Given the description of an element on the screen output the (x, y) to click on. 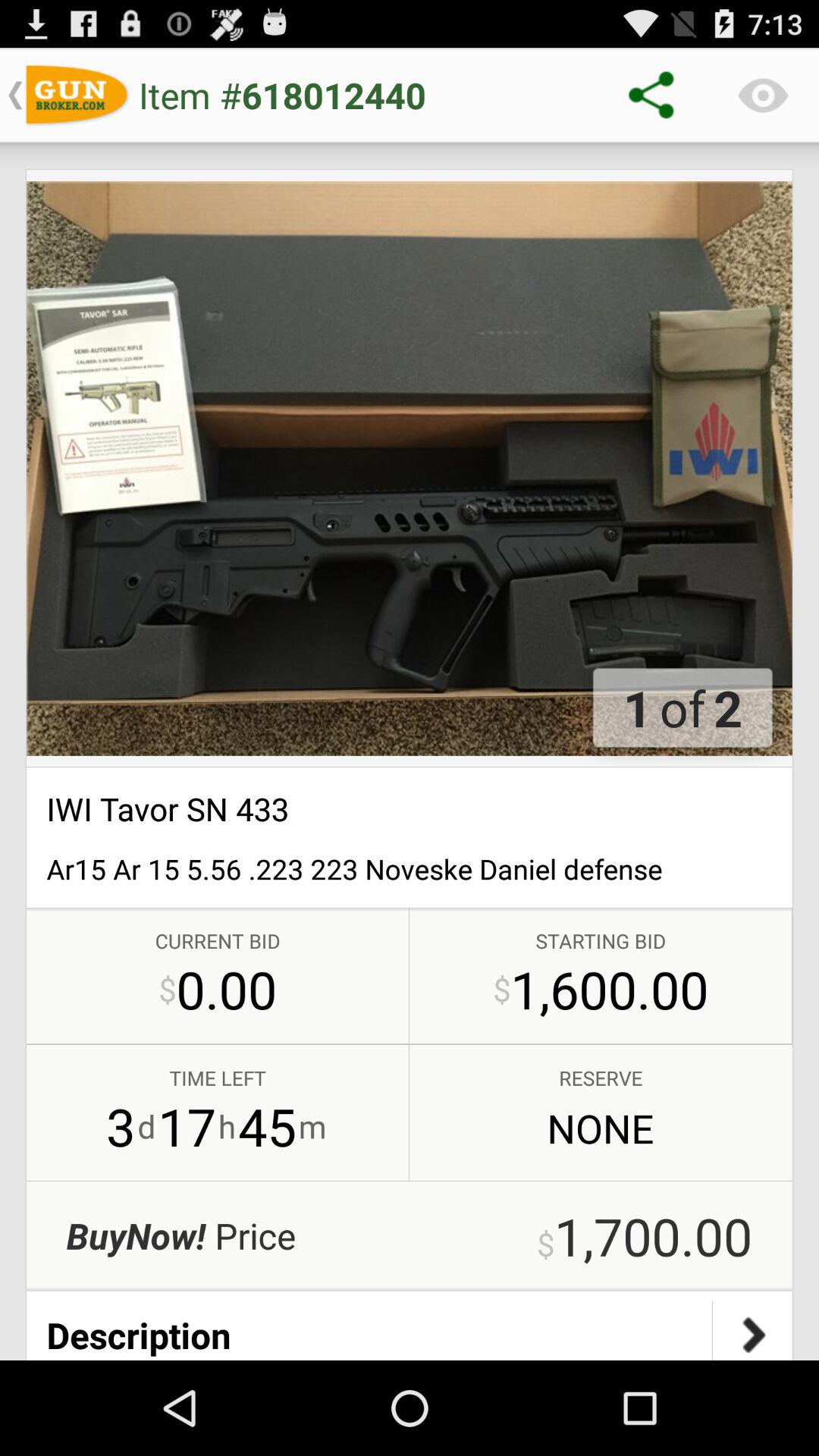
symbol left to item (77, 95)
select the share icon (651, 95)
